Given the description of an element on the screen output the (x, y) to click on. 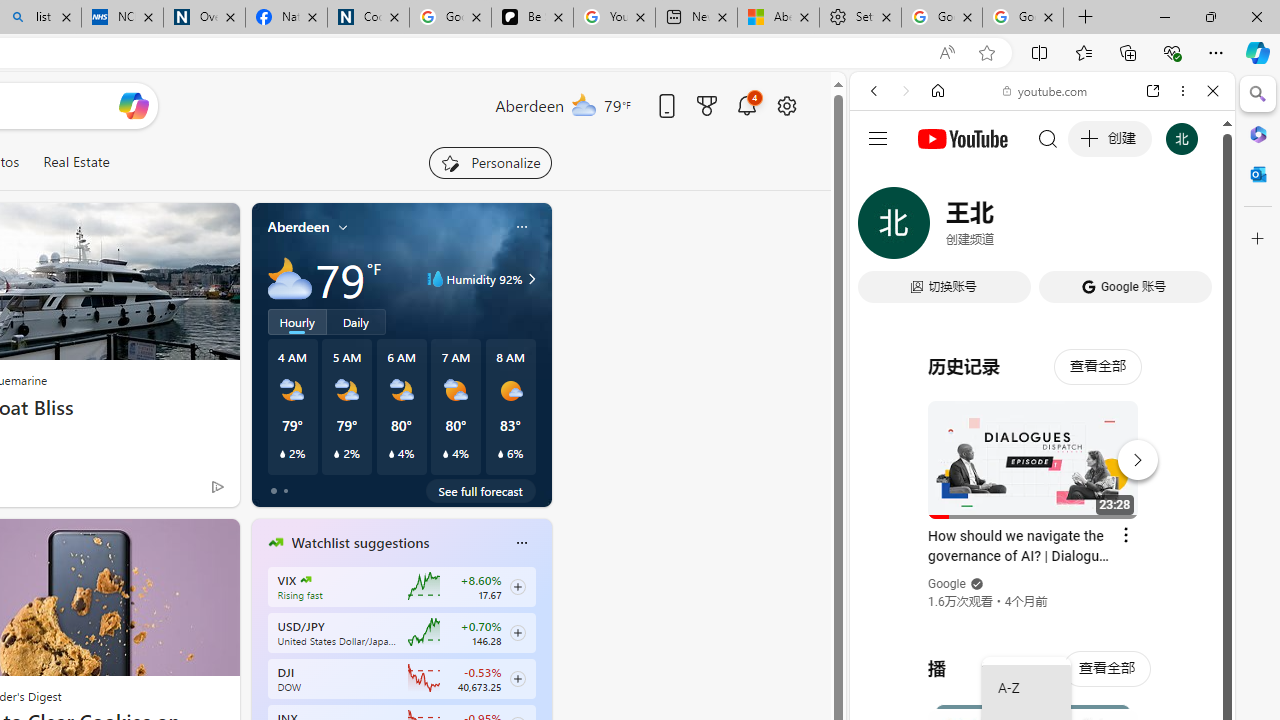
Class: follow-button  m (517, 678)
next (541, 670)
My location (343, 227)
youtube.com (1046, 90)
Music (1042, 543)
See full forecast (480, 490)
Cookies (368, 17)
Google (1042, 494)
